Given the description of an element on the screen output the (x, y) to click on. 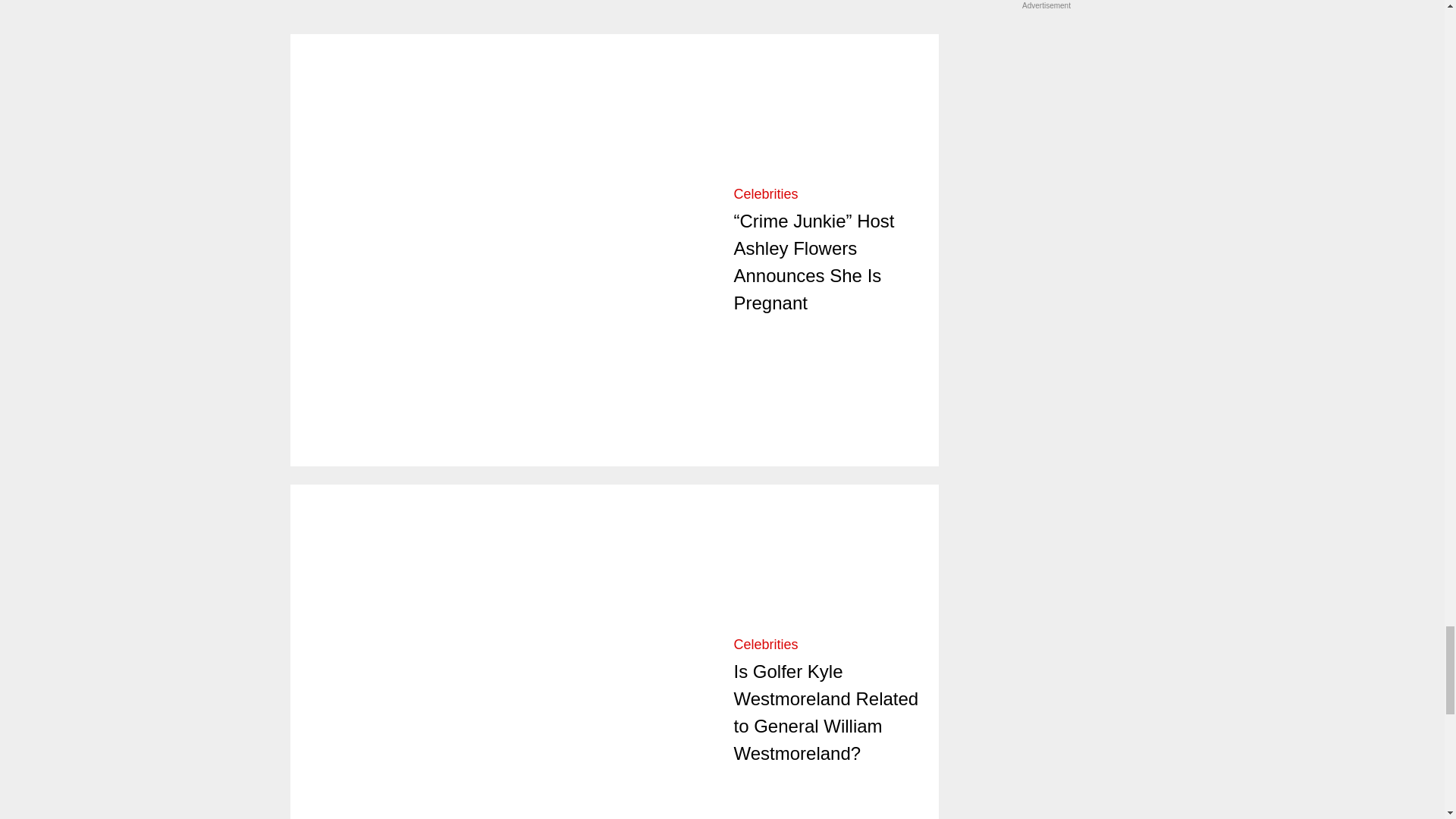
Category Name (765, 193)
Category Name (765, 644)
